Given the description of an element on the screen output the (x, y) to click on. 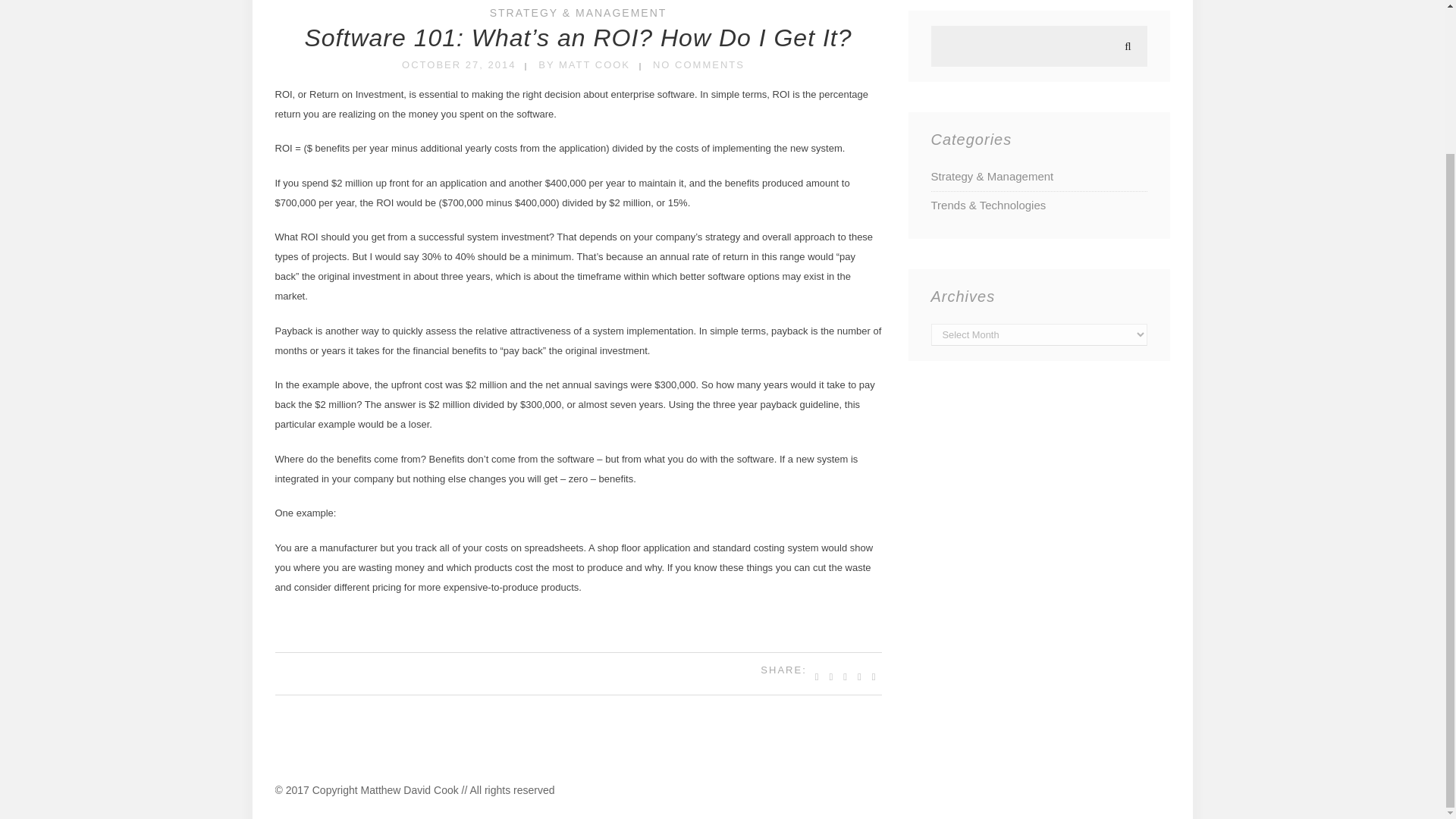
OCTOBER 27, 2014 (458, 64)
NO COMMENTS (698, 64)
BY MATT COOK (584, 64)
